Given the description of an element on the screen output the (x, y) to click on. 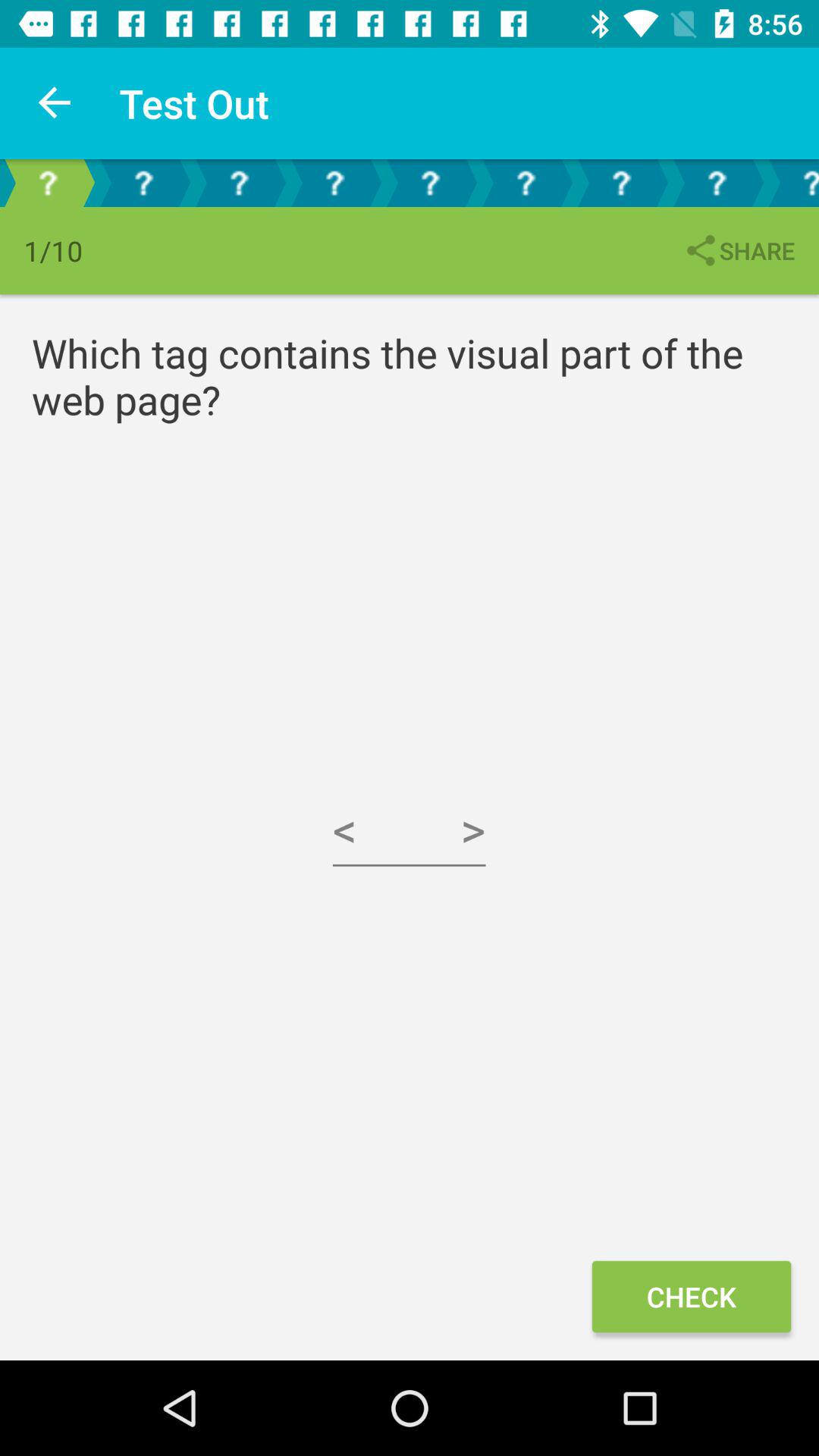
go to quesstion 1 (47, 183)
